Given the description of an element on the screen output the (x, y) to click on. 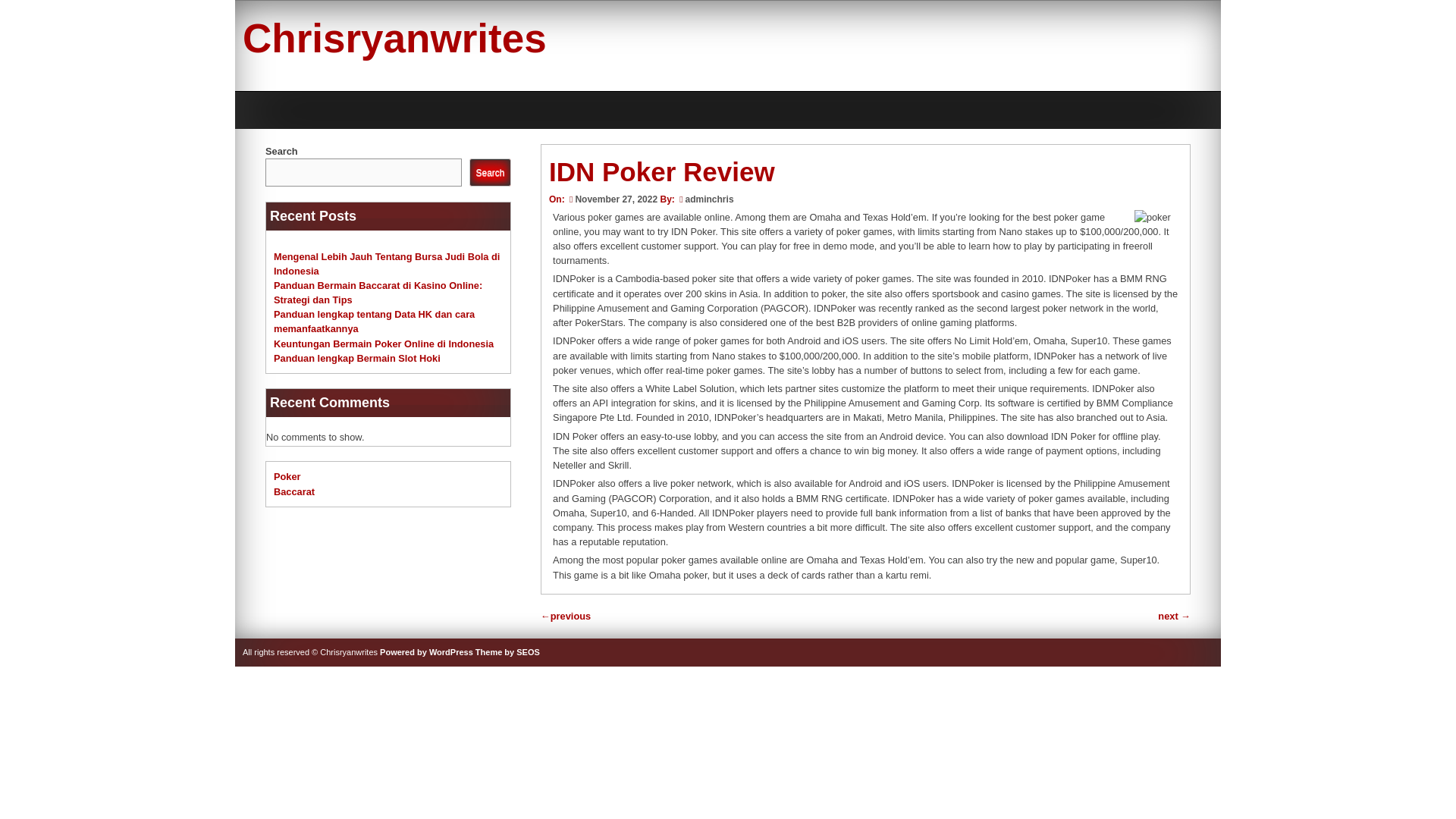
Mengenal Lebih Jauh Tentang Bursa Judi Bola di Indonesia (386, 263)
Chrisryanwrites (395, 37)
Panduan lengkap tentang Data HK dan cara memanfaatkannya (373, 321)
Baccarat (293, 491)
November 27, 2022 (612, 199)
Panduan lengkap Bermain Slot Hoki (357, 357)
Poker (287, 476)
Keuntungan Bermain Poker Online di Indonesia (383, 343)
Search (489, 172)
Theme by SEOS (508, 651)
Seos free wordpress themes (508, 651)
adminchris (709, 199)
Panduan Bermain Baccarat di Kasino Online: Strategi dan Tips (377, 292)
Powered by WordPress (426, 651)
